Given the description of an element on the screen output the (x, y) to click on. 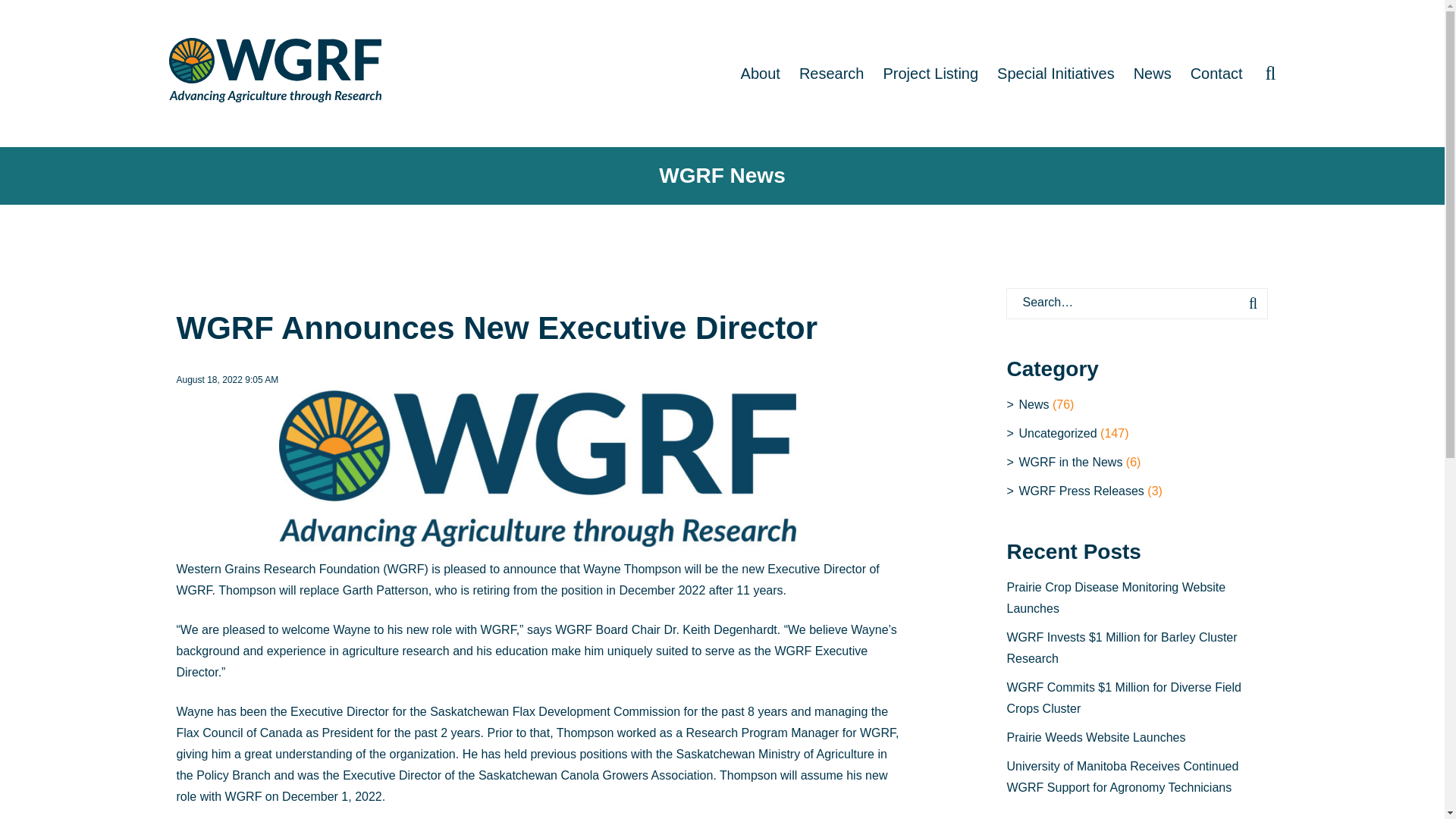
Research (831, 73)
Special Initiatives (1056, 73)
Search for: (1137, 303)
Project Listing (930, 73)
Contact (1217, 73)
